Given the description of an element on the screen output the (x, y) to click on. 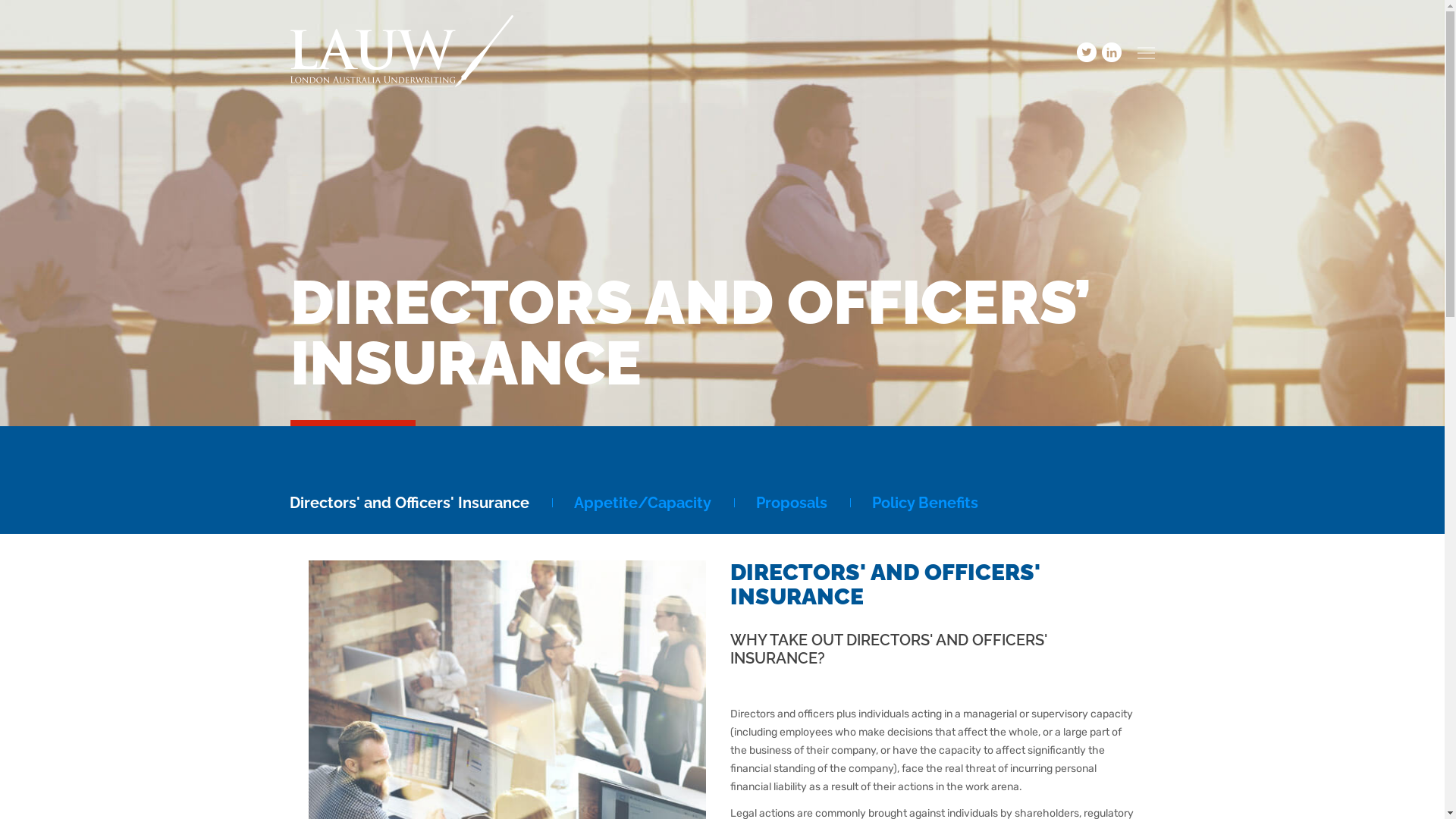
Menu Element type: text (1145, 53)
